Given the description of an element on the screen output the (x, y) to click on. 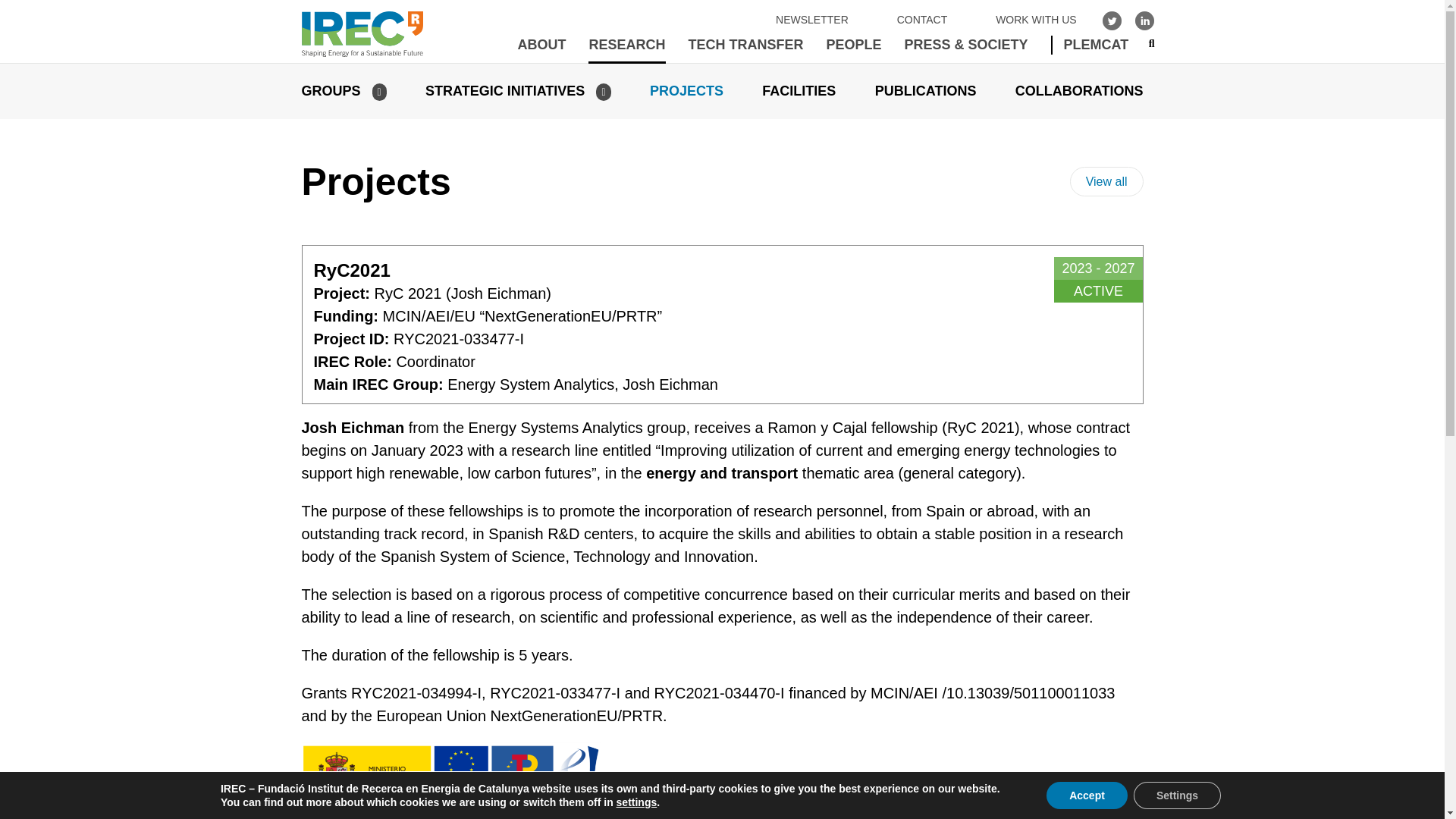
STRATEGIC INITIATIVES (505, 90)
PEOPLE (854, 45)
PLEMCAT (1090, 45)
WORK WITH US (1036, 19)
TECH TRANSFER (745, 45)
FACILITIES (798, 90)
PRIMA (710, 70)
NEWSLETTER (812, 19)
GROUPS (331, 90)
PROJECTS (686, 90)
